Given the description of an element on the screen output the (x, y) to click on. 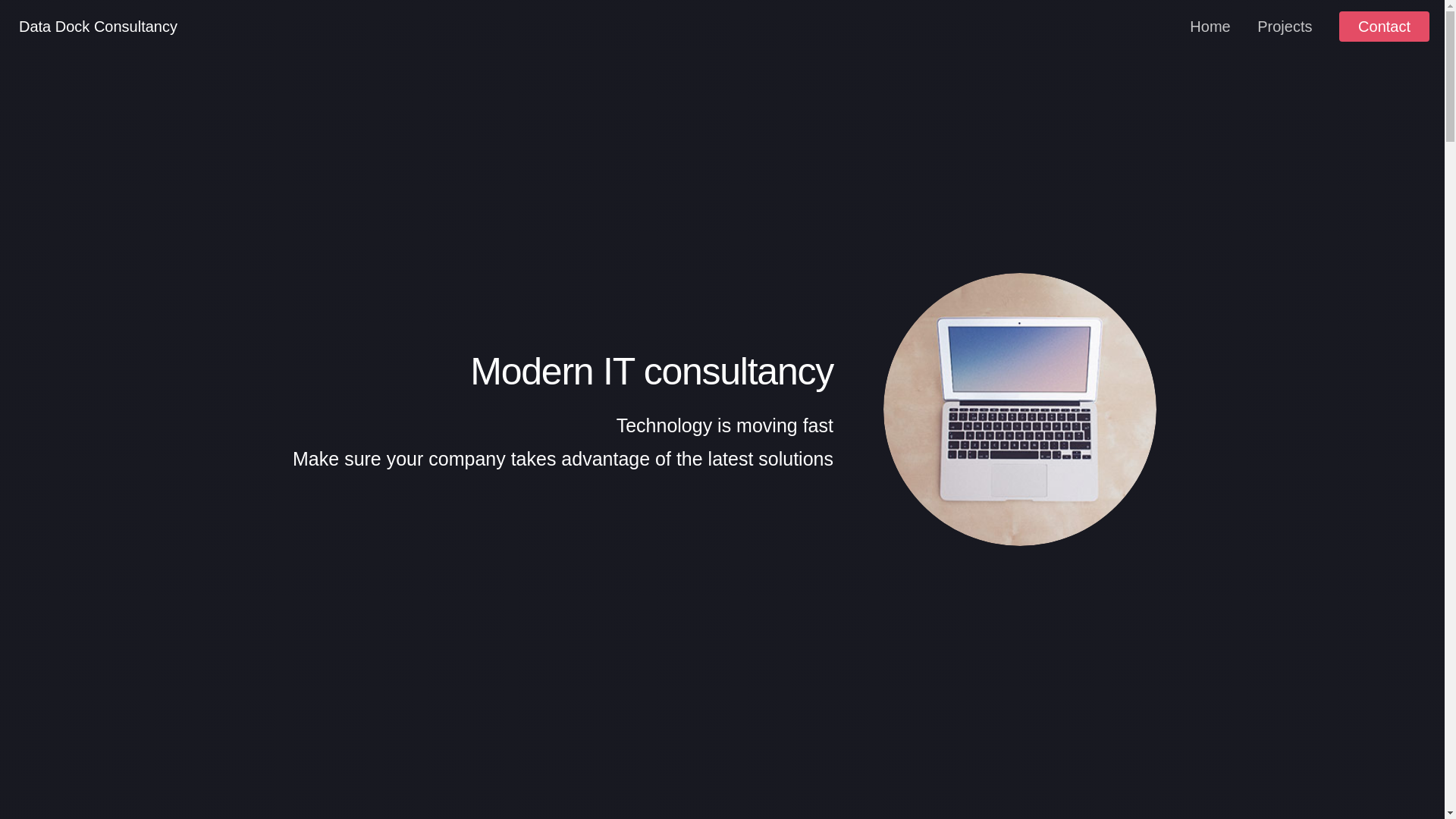
Projects (1284, 26)
Next (721, 780)
Contact (1384, 26)
Next (721, 780)
Data Dock Consultancy (97, 26)
